Given the description of an element on the screen output the (x, y) to click on. 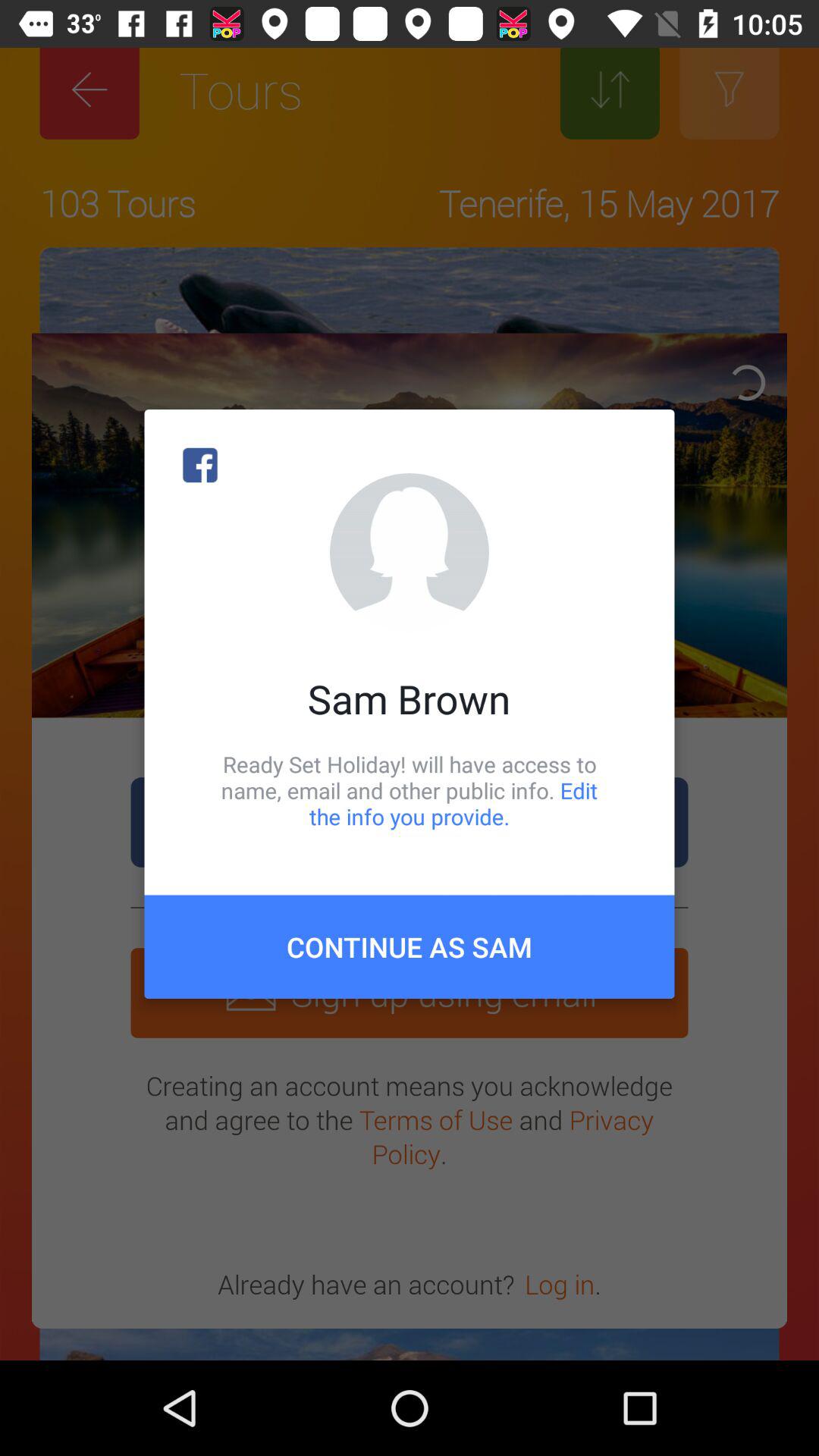
turn on the ready set holiday item (409, 790)
